Given the description of an element on the screen output the (x, y) to click on. 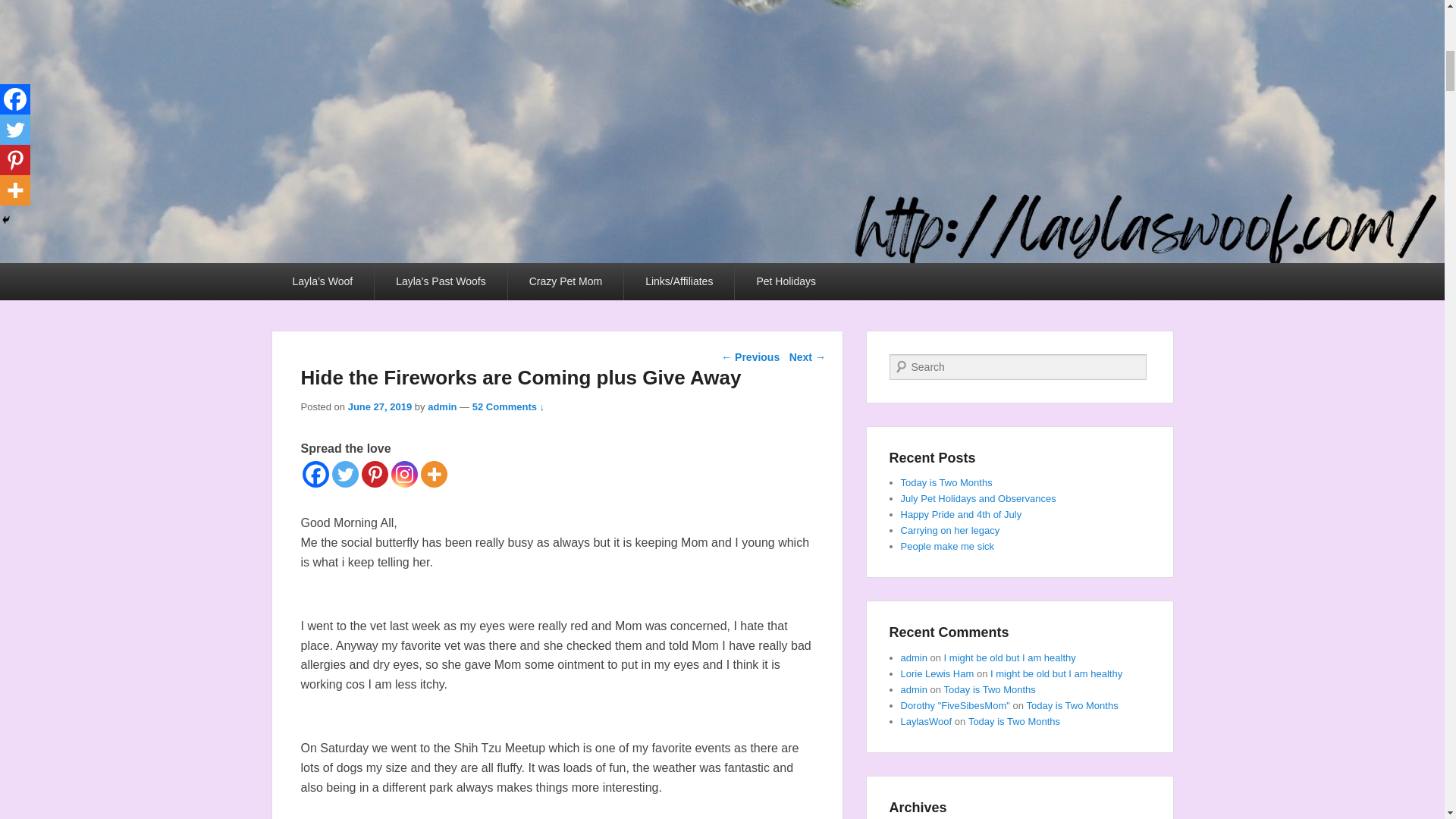
More (433, 474)
Facebook (315, 474)
Crazy Pet Mom (565, 281)
admin (442, 406)
June 27, 2019 (379, 406)
7:33 pm (379, 406)
Pet Holidays (786, 281)
Twitter (344, 474)
Instagram (404, 474)
View all posts by admin (442, 406)
Pinterest (374, 474)
